Given the description of an element on the screen output the (x, y) to click on. 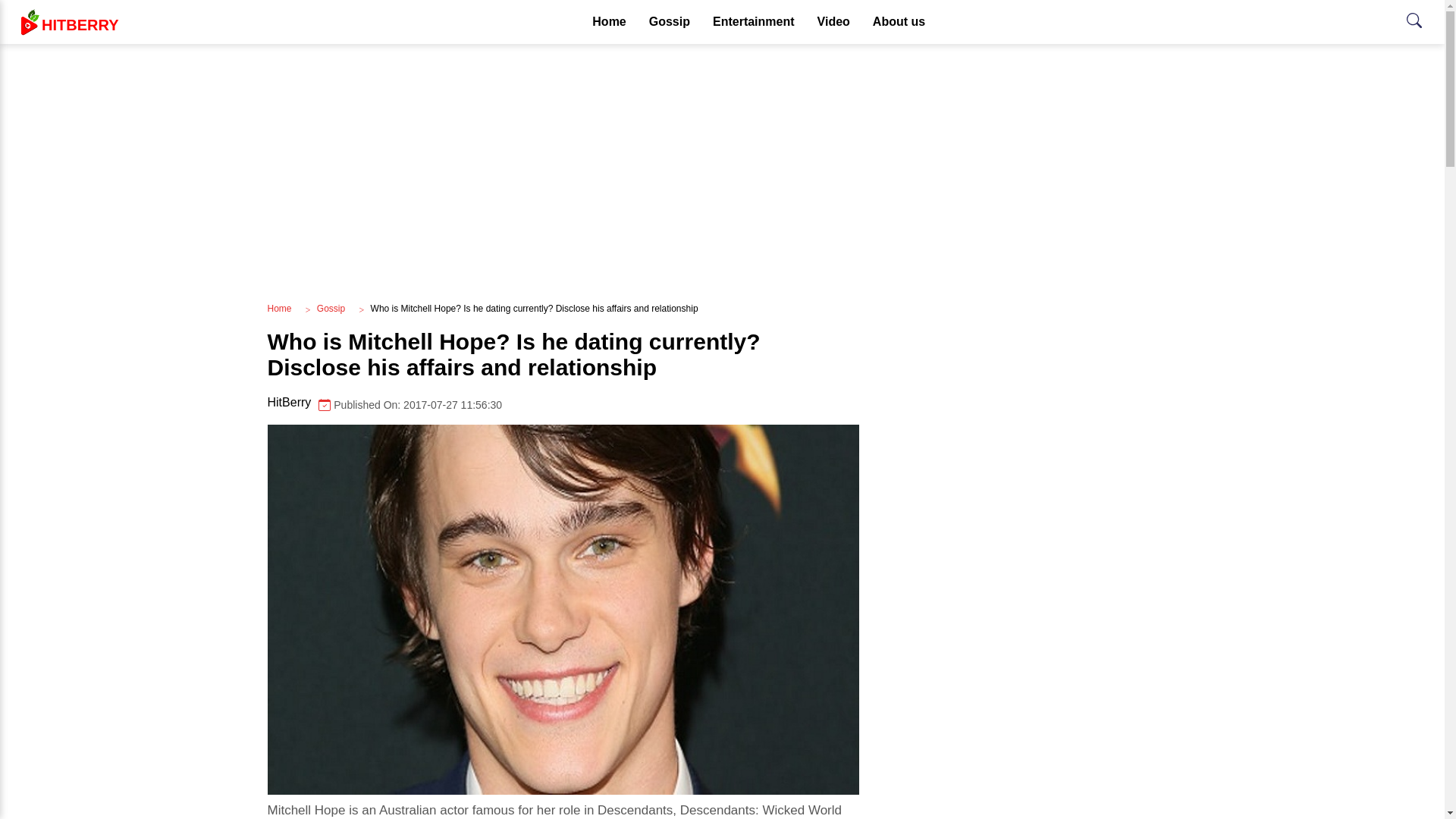
Entertainment (753, 22)
Home (278, 308)
Gossip (331, 308)
Video (833, 22)
About us (898, 22)
Gossip (562, 404)
Home (669, 22)
Advertisement (608, 22)
